Given the description of an element on the screen output the (x, y) to click on. 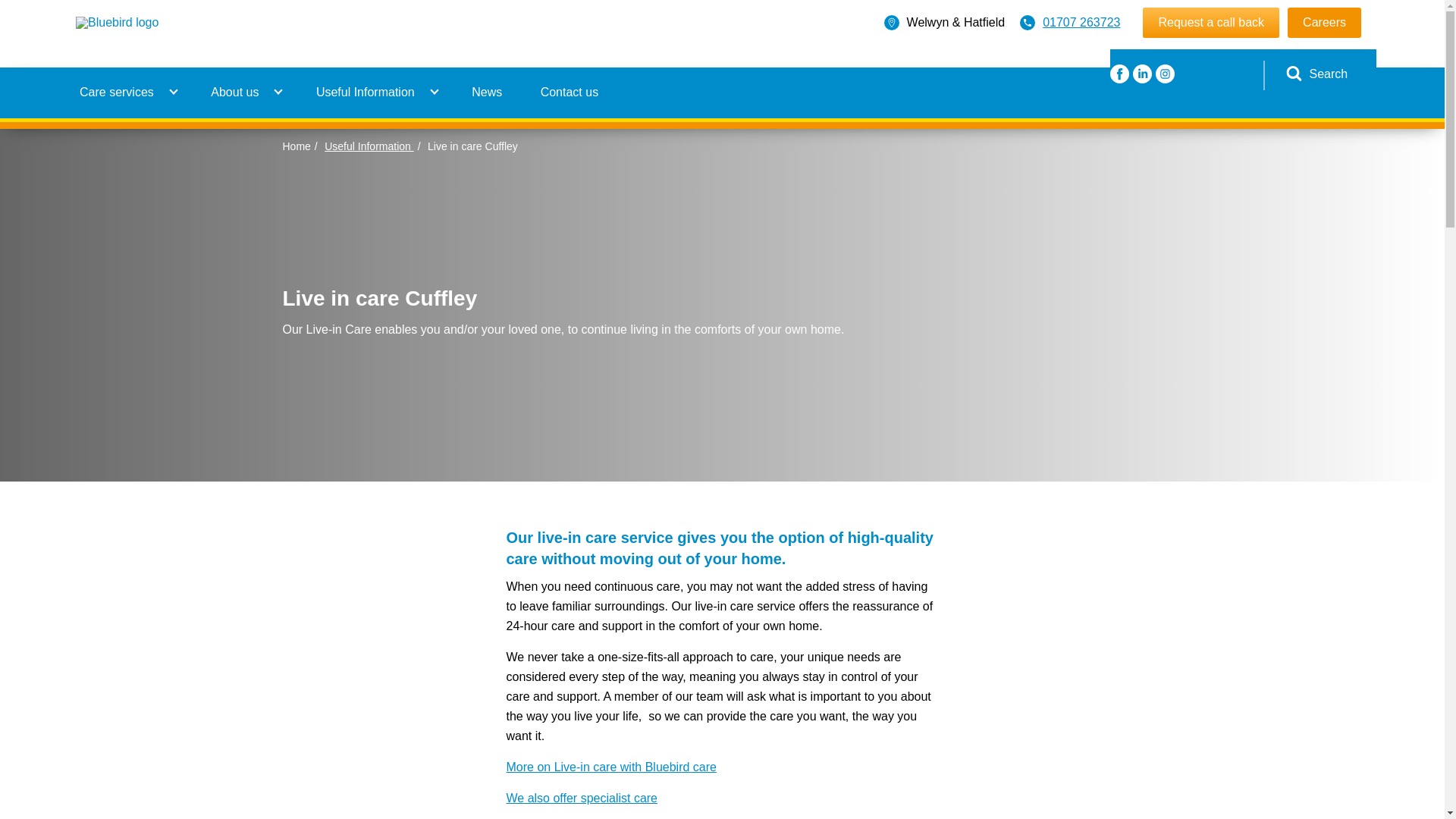
01707 263723 (1080, 22)
Careers (1324, 22)
Request a call back (1210, 22)
